Given the description of an element on the screen output the (x, y) to click on. 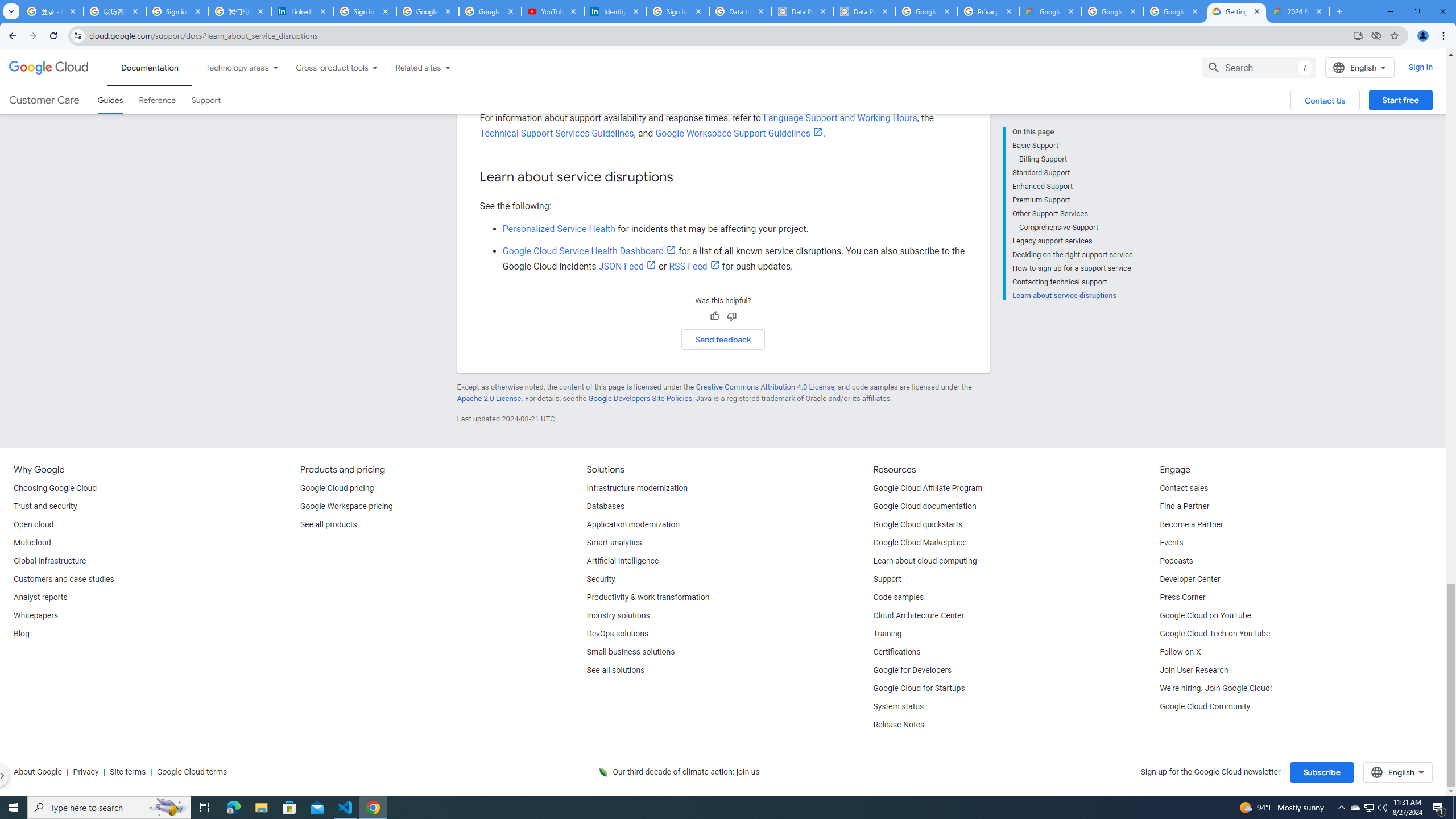
Podcasts (1175, 561)
Google Cloud Community (1204, 706)
JSON Feed (627, 266)
Site terms (127, 772)
Language Support and Working Hours (839, 118)
Release Notes (898, 724)
About Google (37, 772)
Productivity & work transformation (648, 597)
Google Cloud terms (191, 772)
